Given the description of an element on the screen output the (x, y) to click on. 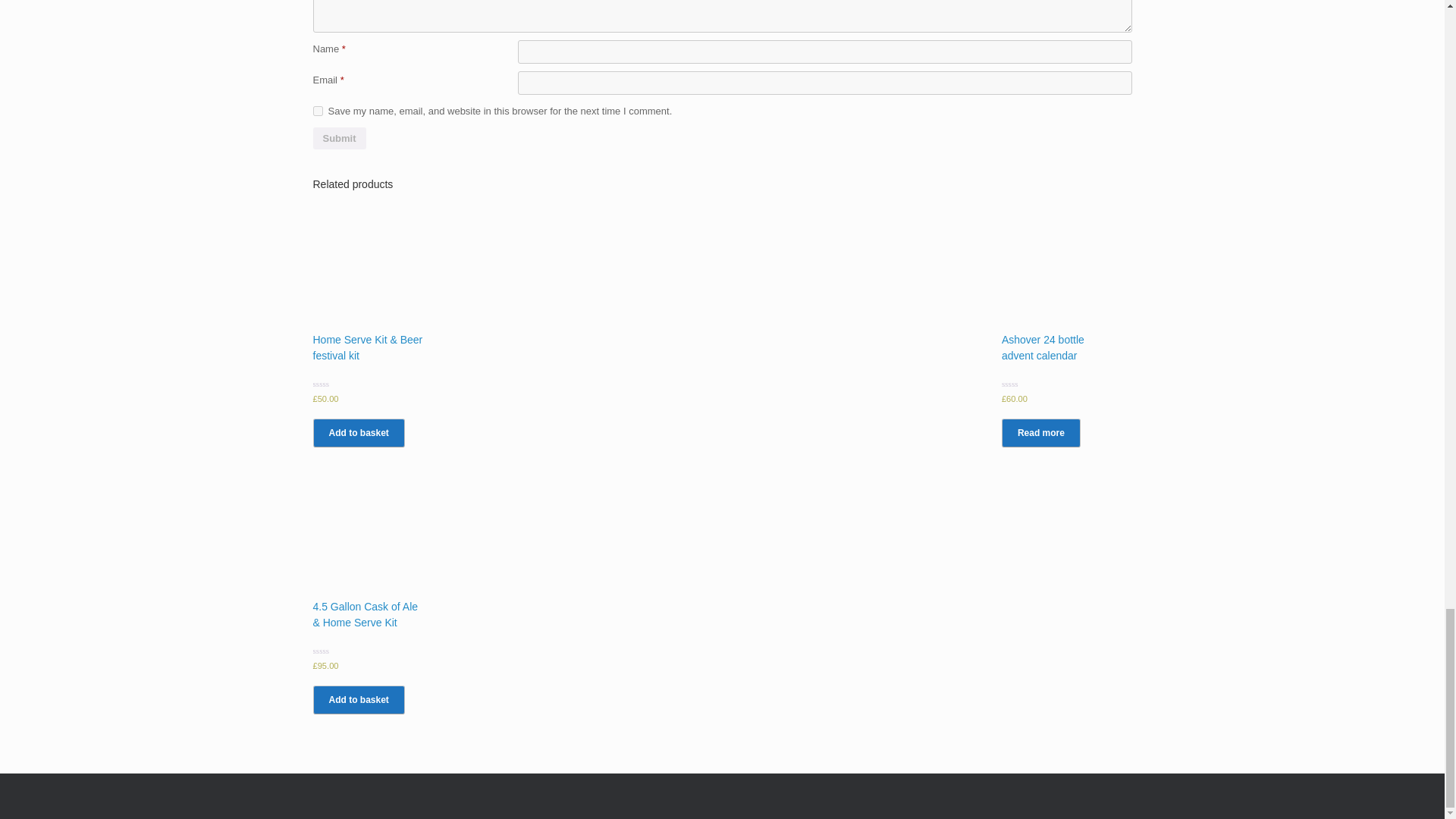
Add to basket (358, 432)
Read more (1040, 432)
yes (317, 111)
Submit (339, 138)
Add to basket (358, 699)
Submit (339, 138)
